Given the description of an element on the screen output the (x, y) to click on. 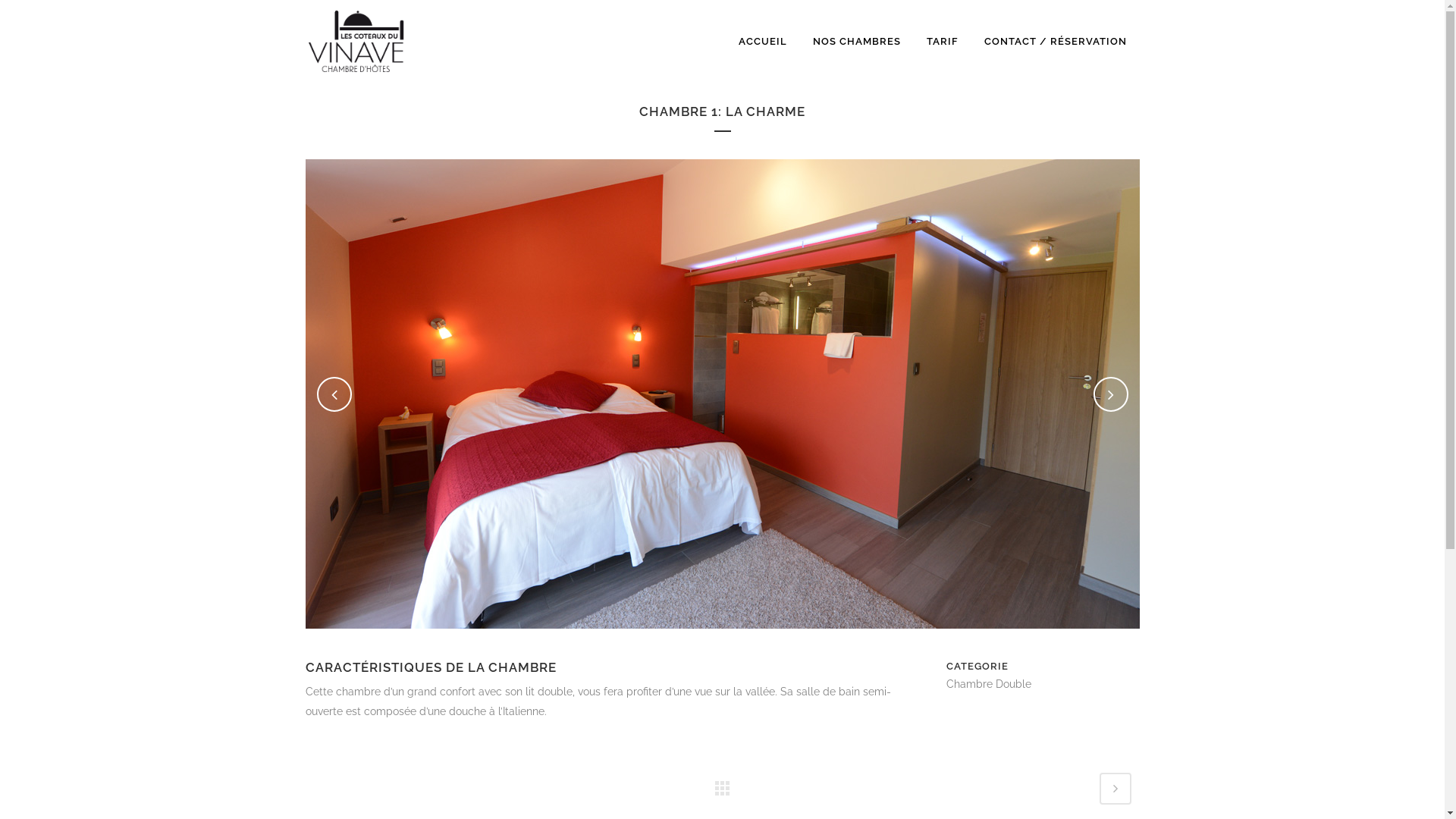
ACCUEIL Element type: text (761, 41)
NOS CHAMBRES Element type: text (856, 41)
TARIF Element type: text (941, 41)
